Given the description of an element on the screen output the (x, y) to click on. 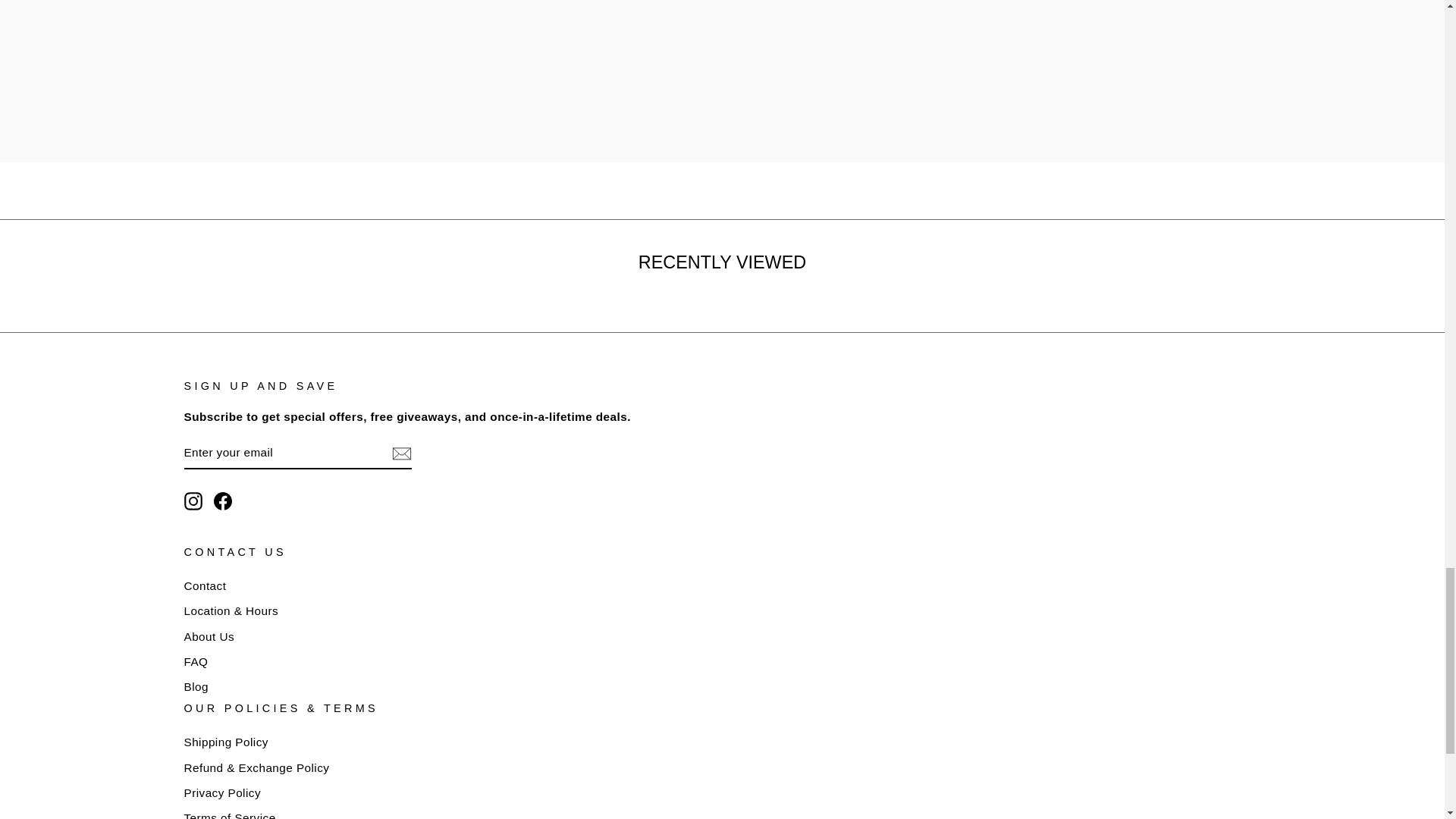
Beestung Lingerie on Instagram (192, 501)
Beestung Lingerie on Facebook (222, 501)
